Given the description of an element on the screen output the (x, y) to click on. 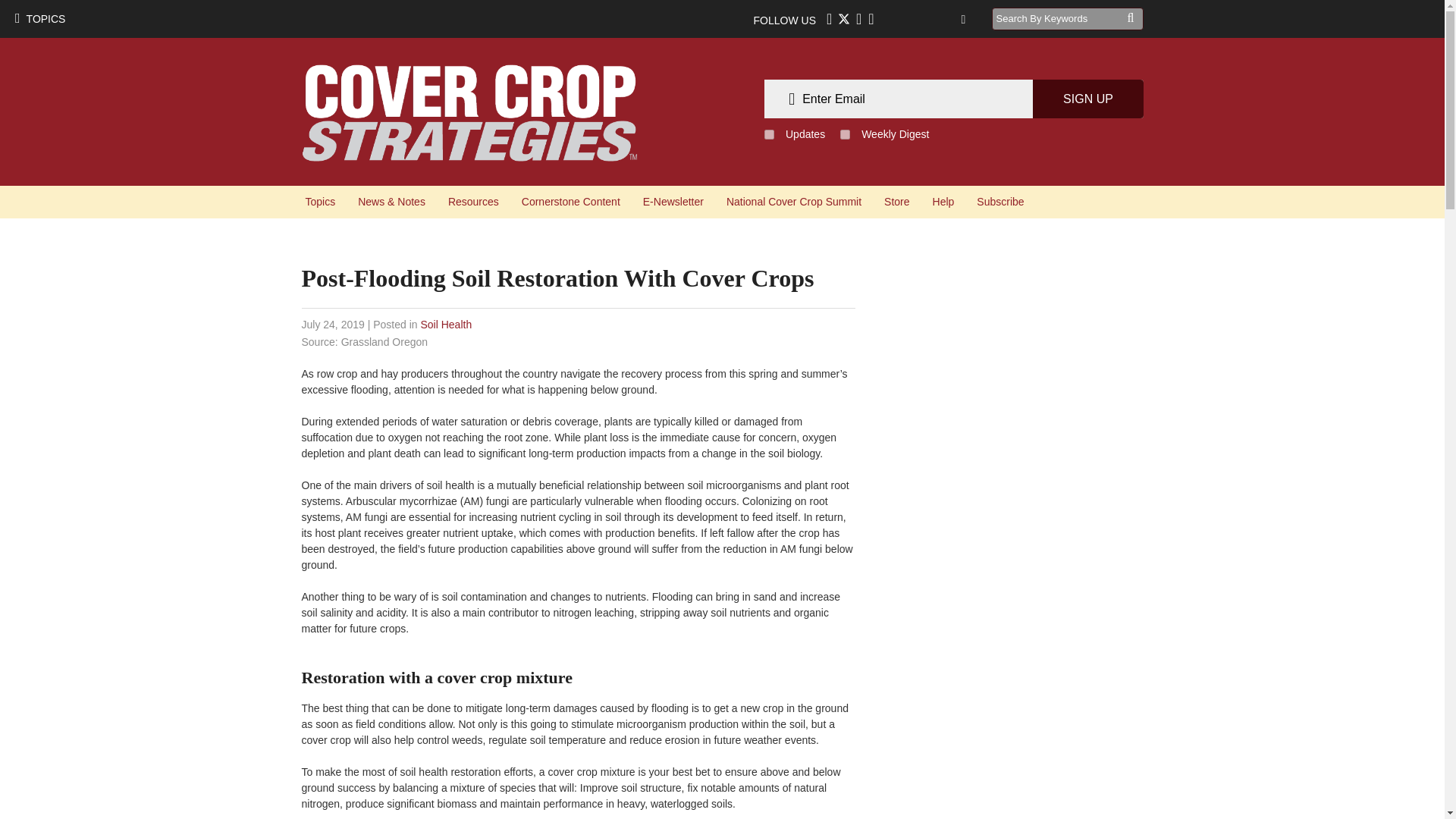
Search By Keywords (1058, 18)
SIGN UP (1087, 98)
Topics (320, 201)
Resources (473, 201)
1 (769, 134)
TOPICS (39, 18)
Search By Keywords (1058, 18)
1 (845, 134)
